Given the description of an element on the screen output the (x, y) to click on. 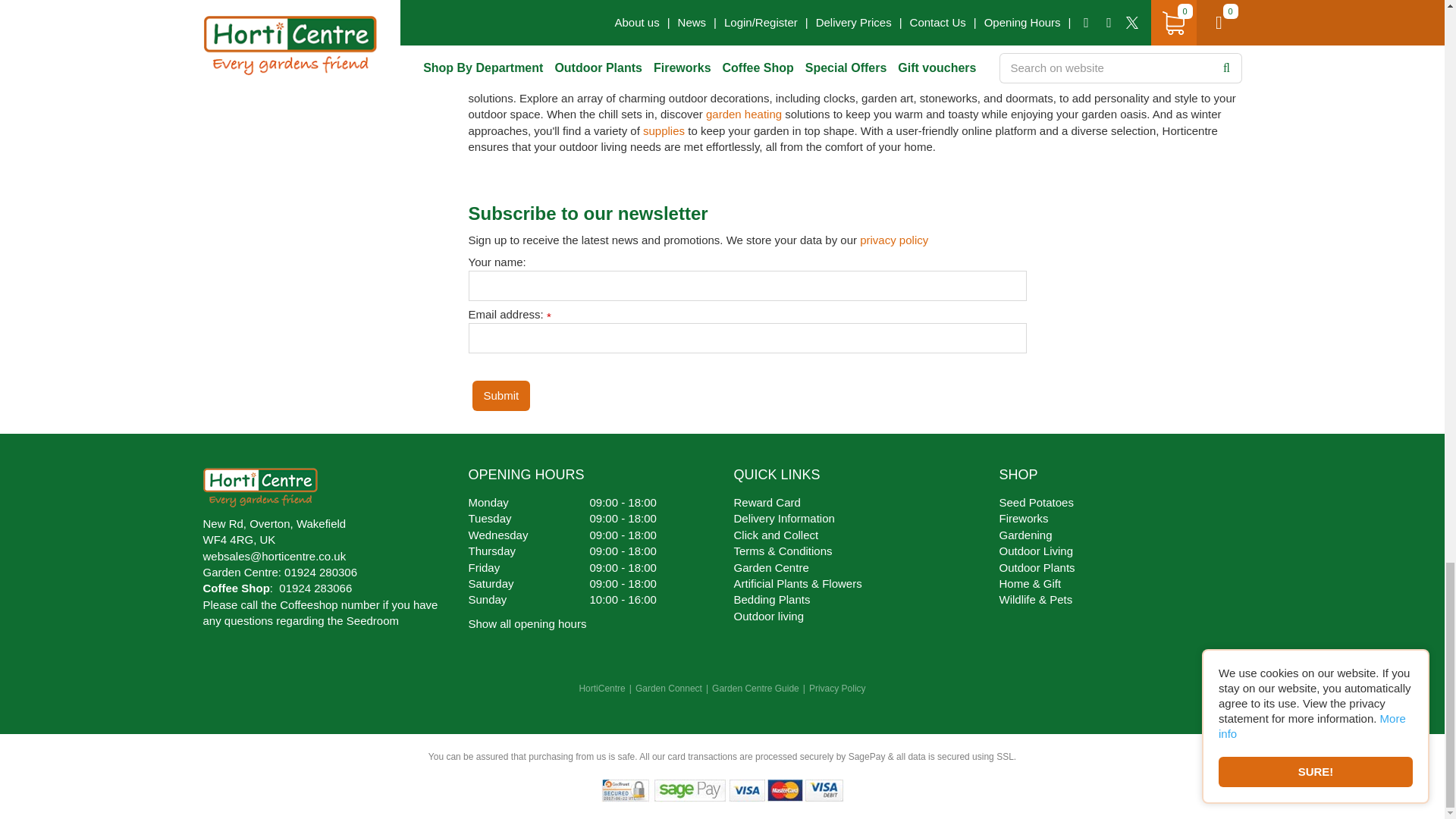
Submit (500, 395)
